Given the description of an element on the screen output the (x, y) to click on. 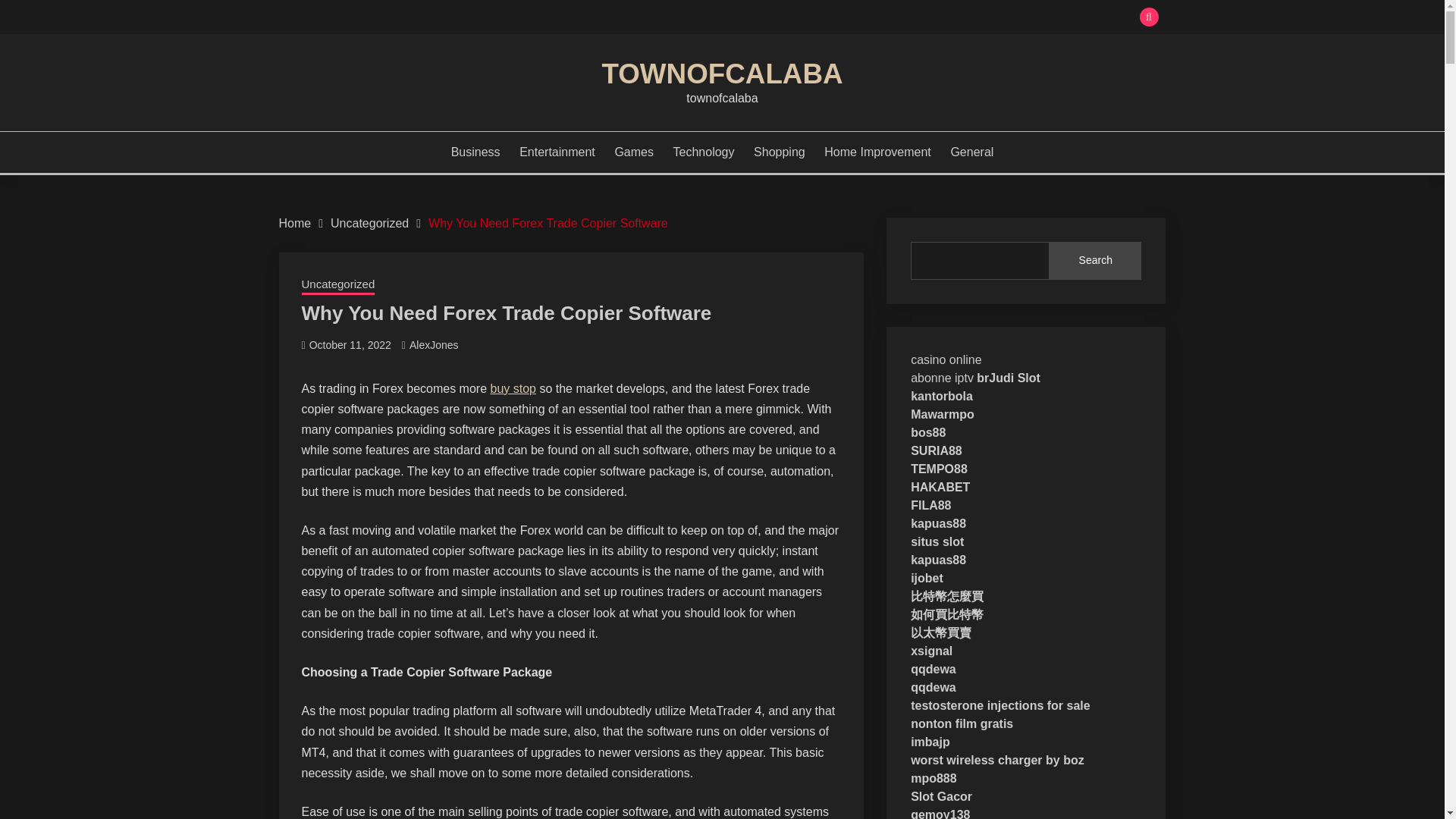
Search (832, 18)
Entertainment (557, 152)
General (971, 152)
kantorbola (941, 395)
TOWNOFCALABA (722, 73)
Home Improvement (877, 152)
Shopping (779, 152)
October 11, 2022 (349, 345)
Search (1095, 260)
Uncategorized (369, 223)
Business (475, 152)
buy stop (512, 388)
Why You Need Forex Trade Copier Software (548, 223)
Home (295, 223)
Games (633, 152)
